Given the description of an element on the screen output the (x, y) to click on. 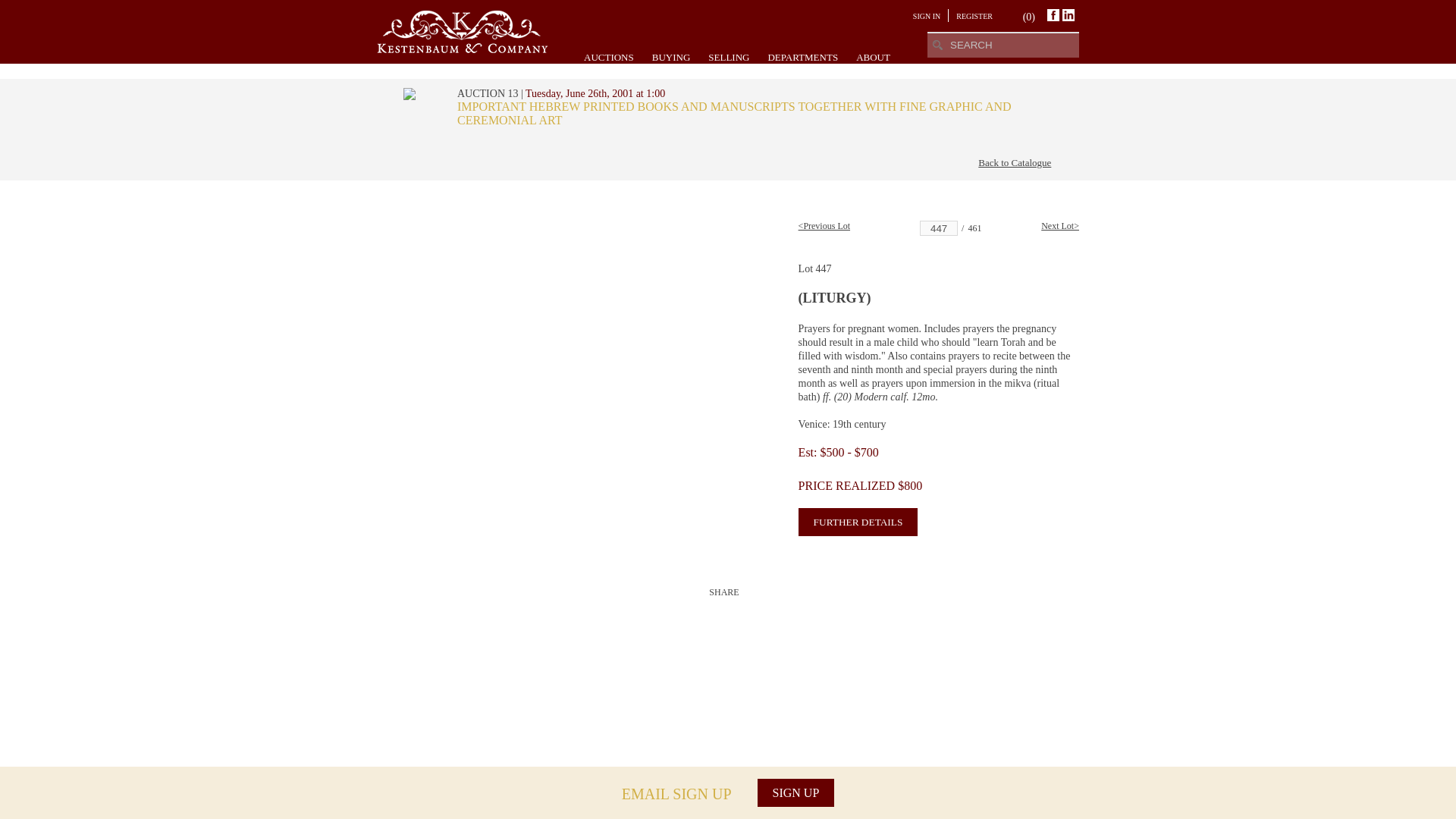
FURTHER DETAILS (857, 521)
REGISTER (974, 16)
447 (939, 227)
ABOUT (872, 57)
SEARCH (937, 44)
SIGN IN (926, 16)
Back to Catalogue (1014, 162)
Search (937, 44)
BUYING (671, 57)
AUCTIONS (608, 57)
